Given the description of an element on the screen output the (x, y) to click on. 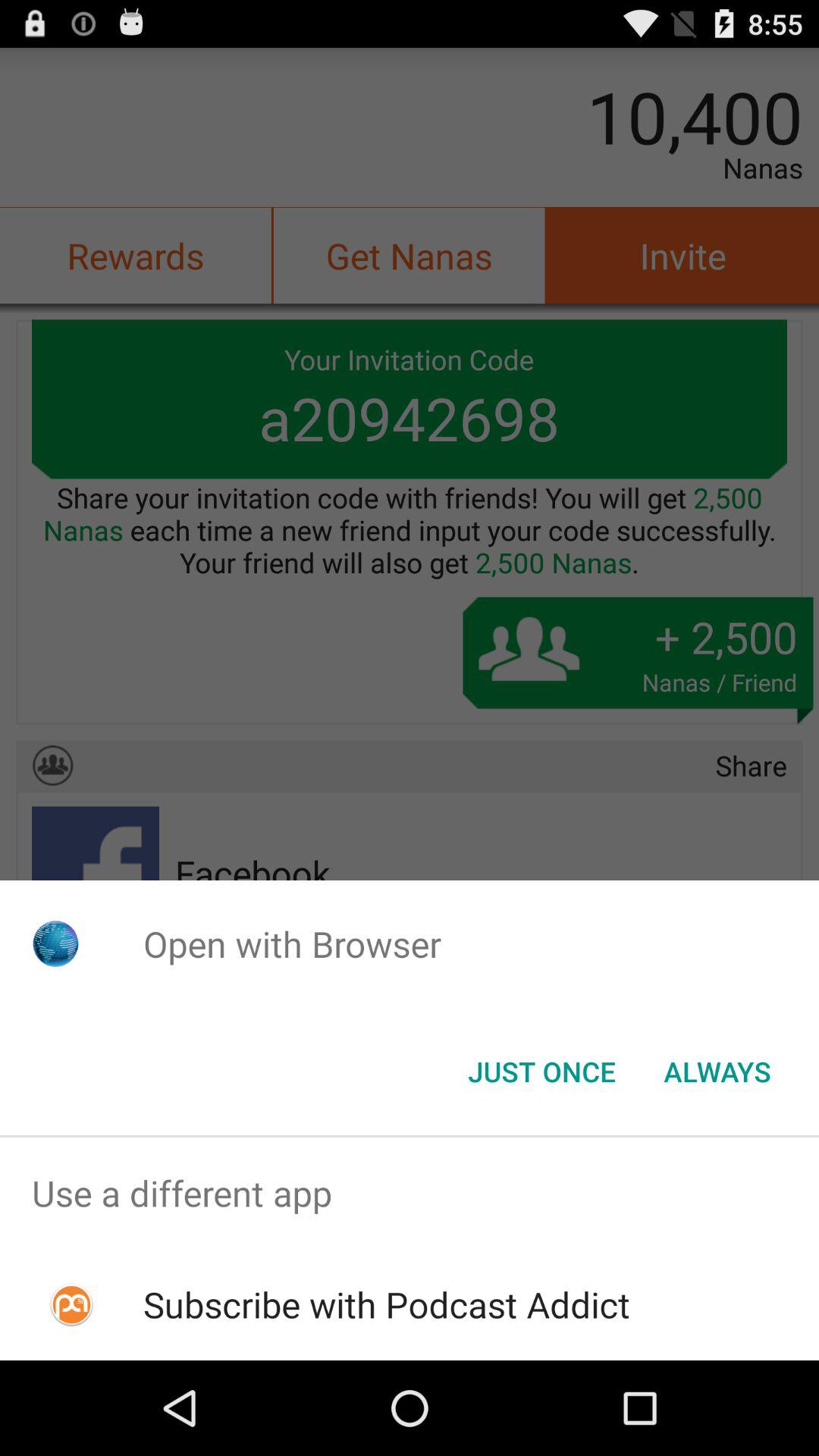
swipe to the just once icon (541, 1071)
